Given the description of an element on the screen output the (x, y) to click on. 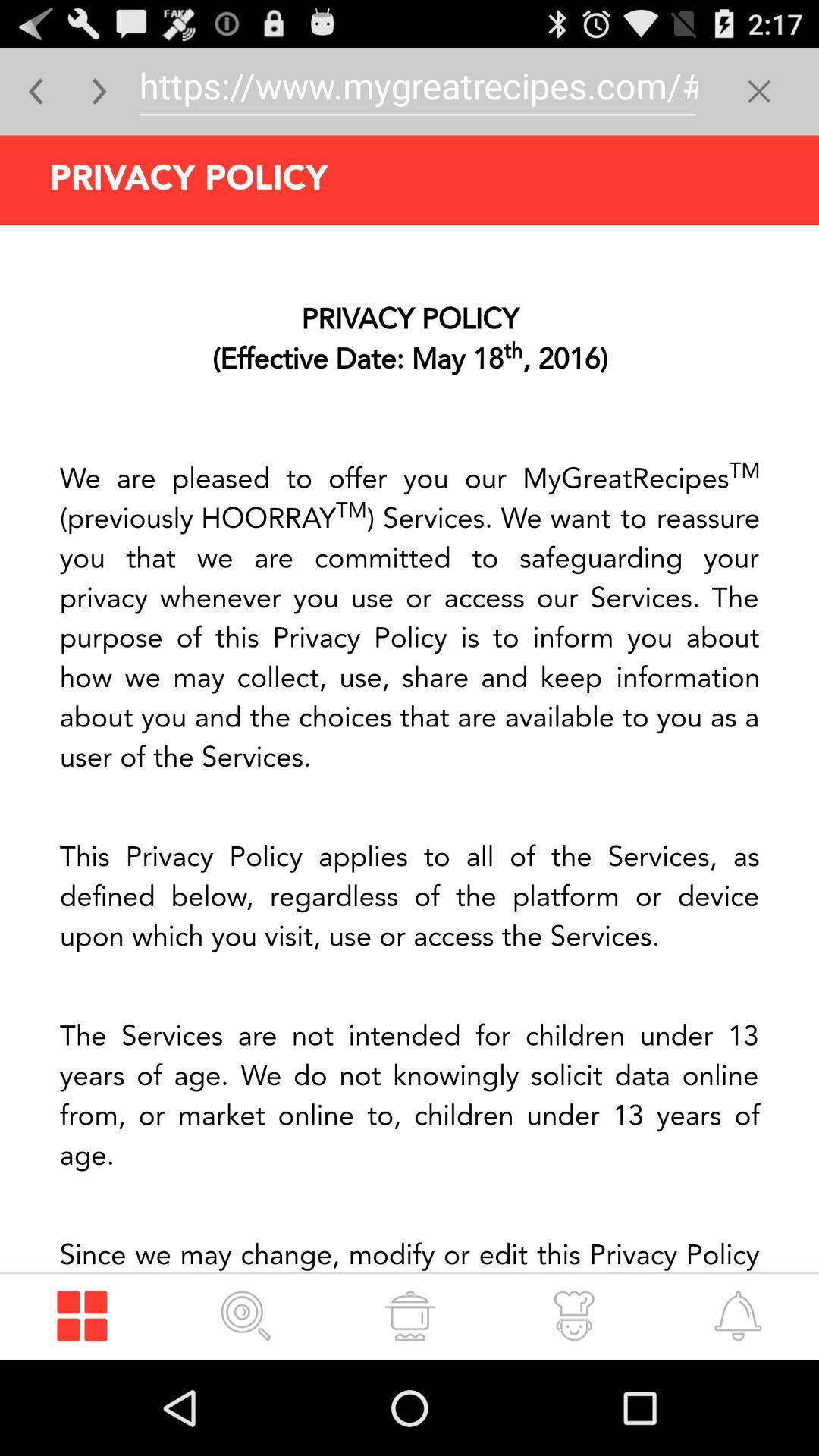
advertisement page (409, 747)
